Given the description of an element on the screen output the (x, y) to click on. 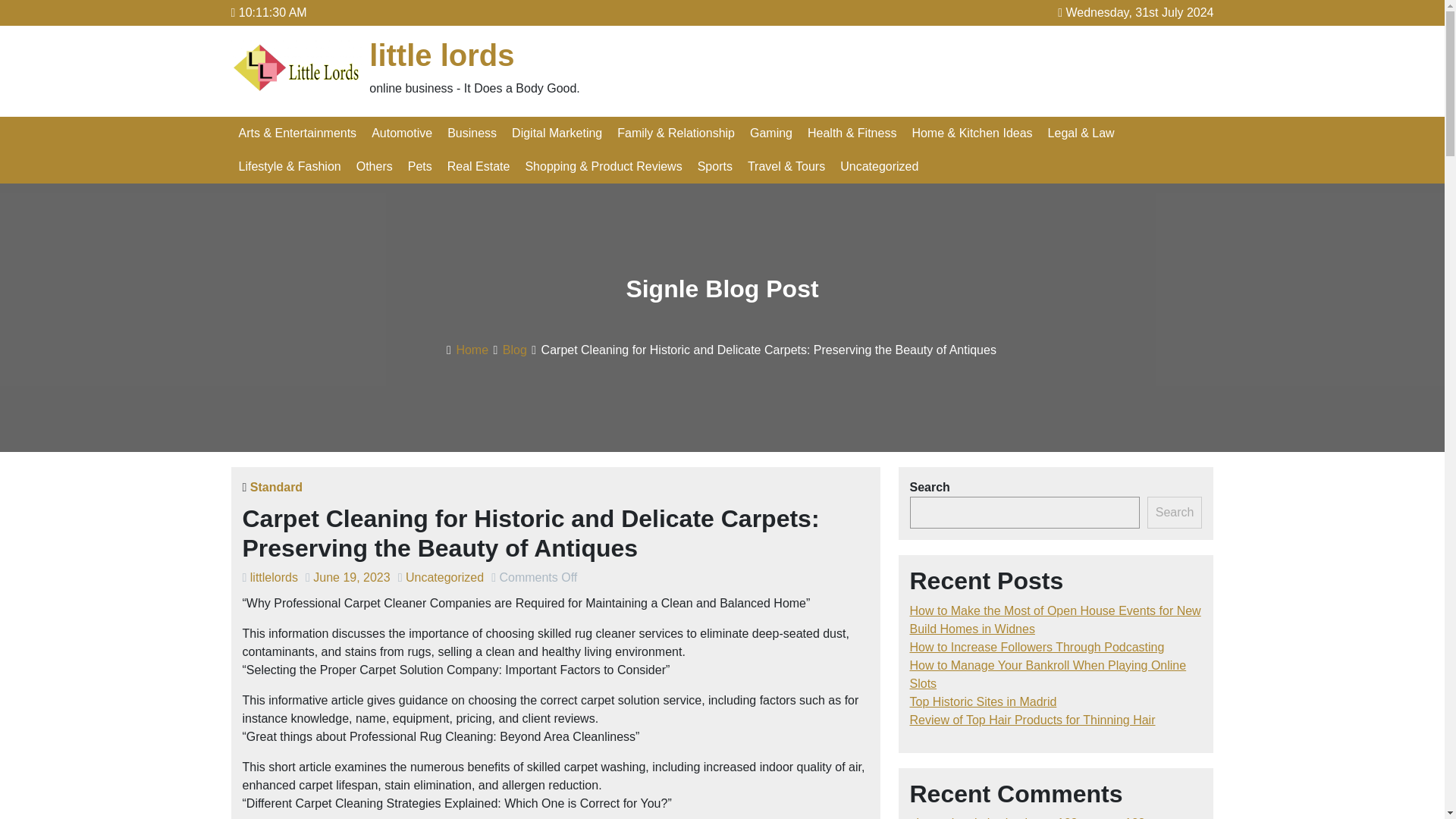
Real Estate (478, 166)
Sports (714, 166)
little lords (441, 55)
Digital Marketing (556, 133)
How to Manage Your Bankroll When Playing Online Slots (1048, 674)
mamen 123 (1112, 817)
Business (471, 133)
Review of Top Hair Products for Thinning Hair (1033, 719)
tokek win (988, 817)
littlelords (274, 576)
Blog (514, 349)
Gaming (770, 133)
Pets (419, 166)
